Given the description of an element on the screen output the (x, y) to click on. 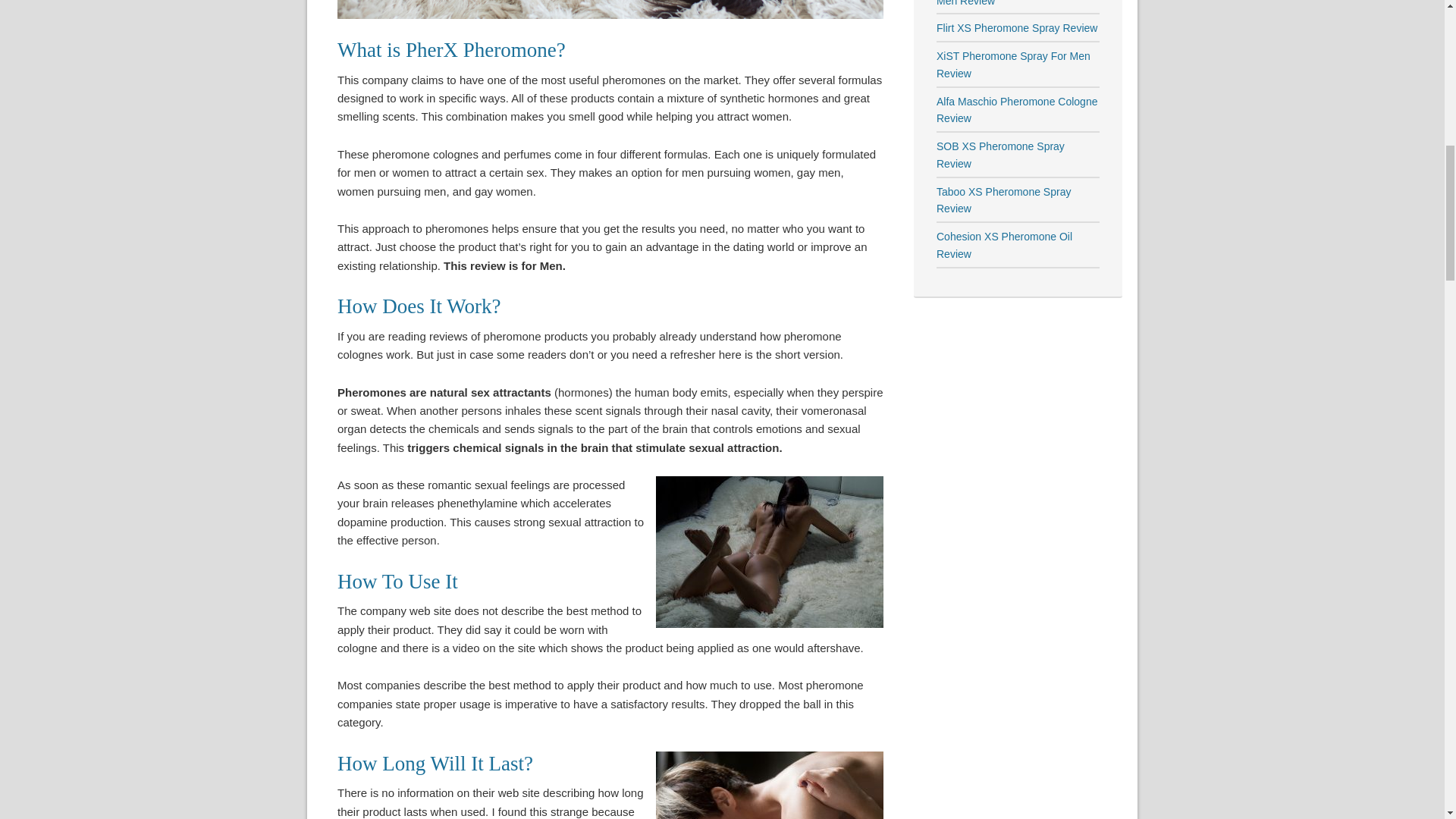
Flirt XS Pheromone Spray Review (1016, 28)
Chikara Pheromone Cologne For Men Review (1014, 3)
Alfa Maschio Pheromone Cologne Review (1016, 110)
Taboo XS Pheromone Spray Review (1003, 200)
XiST Pheromone Spray For Men Review (1013, 64)
SOB XS Pheromone Spray Review (1000, 154)
Cohesion XS Pheromone Oil Review (1003, 245)
